Given the description of an element on the screen output the (x, y) to click on. 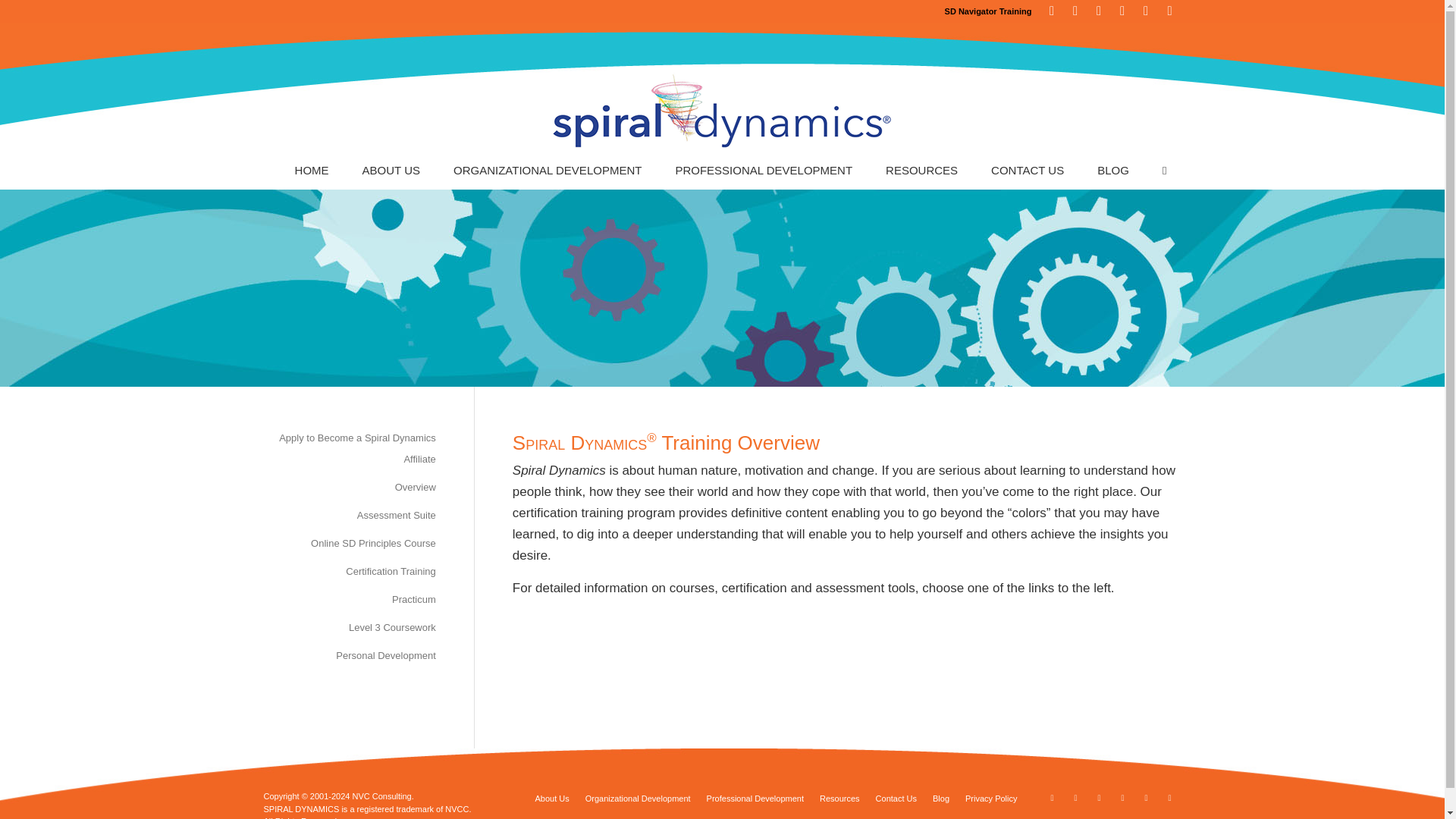
SD Navigator Training (988, 11)
spiral-dynamics-logo-3 (722, 111)
LinkedIn (1123, 797)
LinkedIn (1098, 11)
Facebook (1051, 11)
Twitter (1075, 11)
HOME (312, 170)
LinkedIn (1123, 11)
Twitter (1075, 797)
ABOUT US (391, 170)
